Given the description of an element on the screen output the (x, y) to click on. 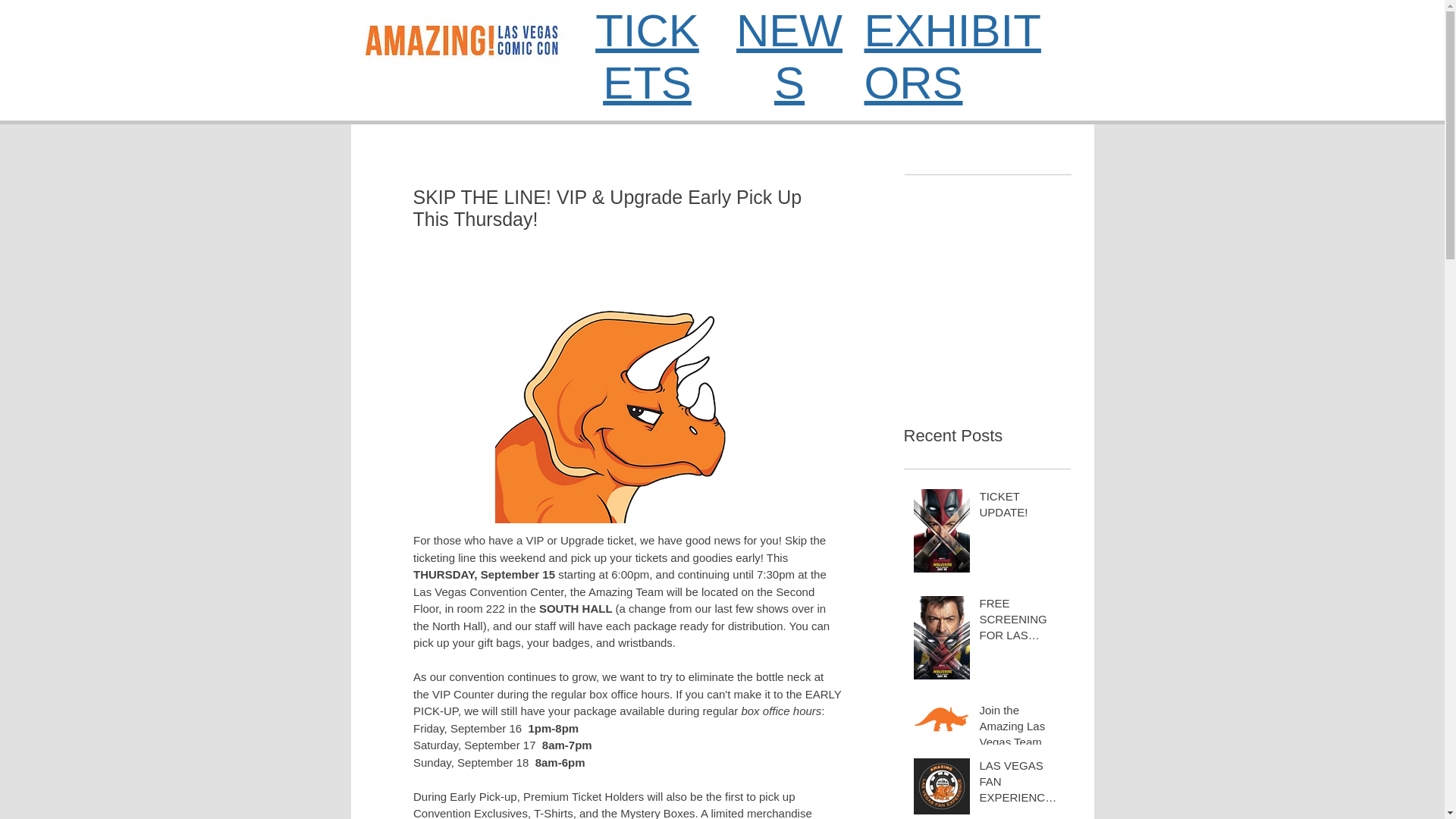
EXHIBITORS (952, 56)
TICKETS (646, 56)
Join the Amazing Las Vegas Team, Volunteer TODAY! (1020, 728)
NEWS (789, 56)
TICKET UPDATE! (1020, 507)
